Given the description of an element on the screen output the (x, y) to click on. 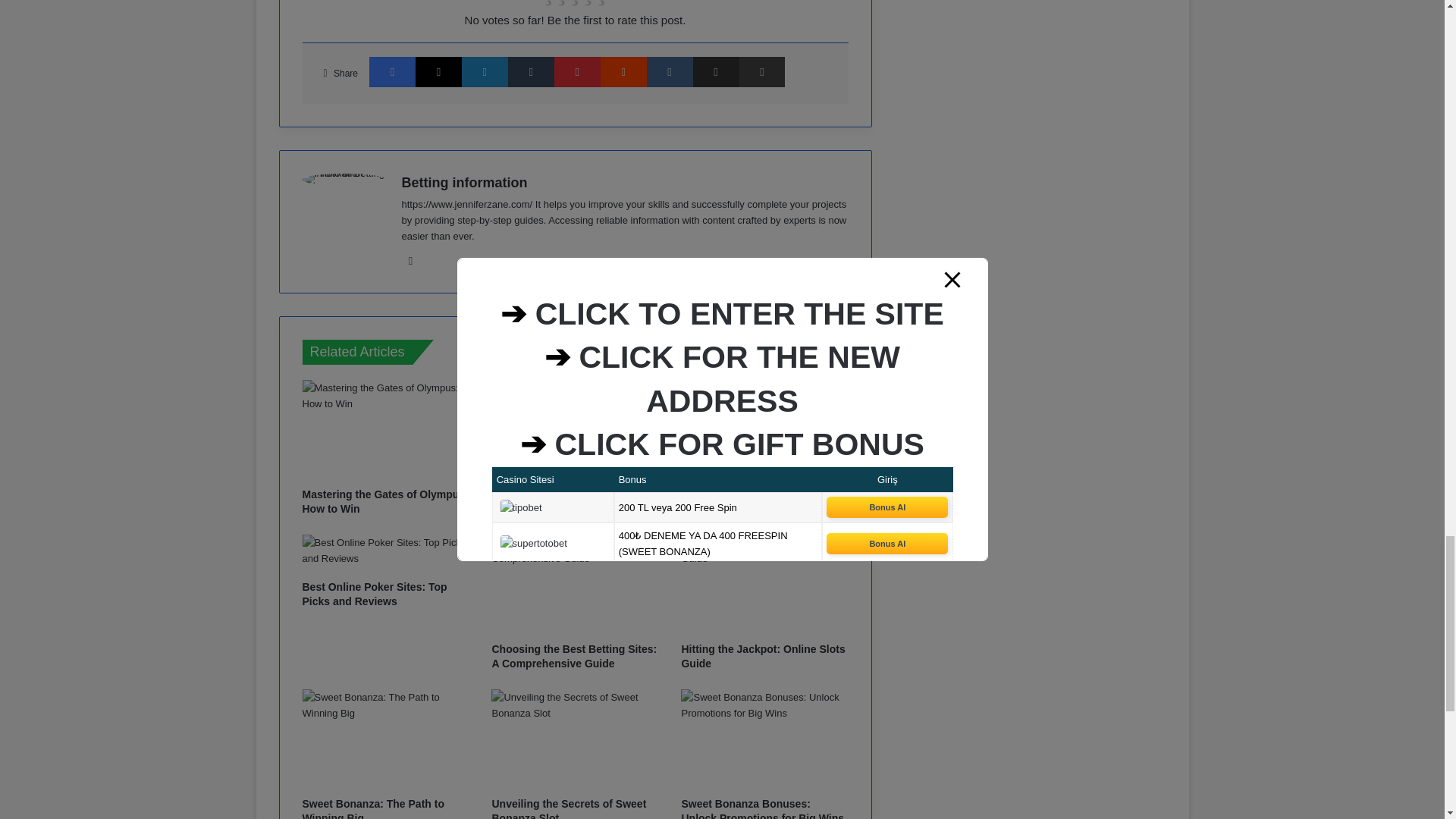
Tumblr (531, 71)
Print (761, 71)
Pinterest (576, 71)
Facebook (391, 71)
X (437, 71)
VKontakte (669, 71)
Reddit (622, 71)
X (437, 71)
Facebook (391, 71)
Tumblr (531, 71)
